Given the description of an element on the screen output the (x, y) to click on. 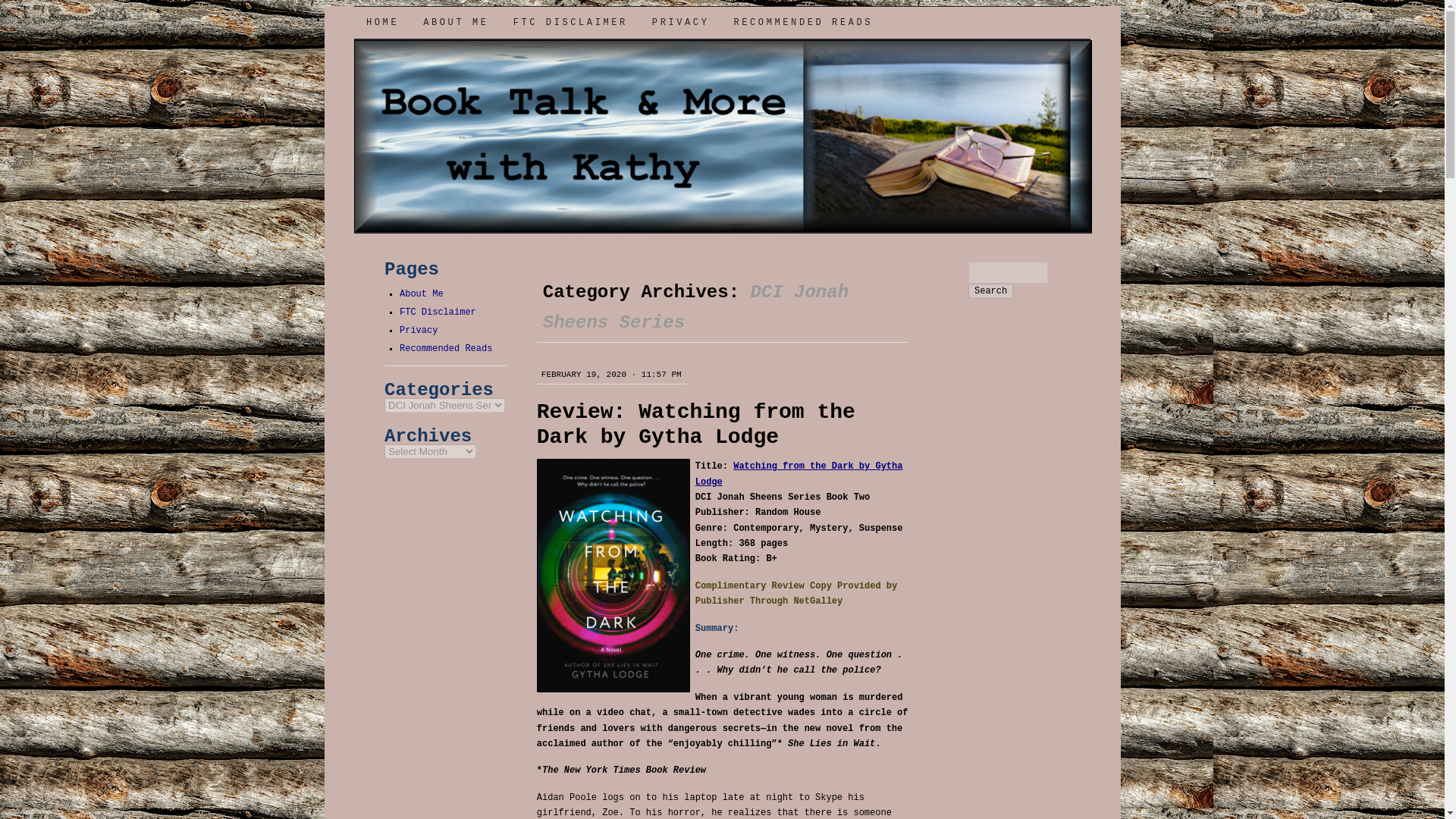
PRIVACY (681, 22)
Search (990, 290)
ABOUT ME (455, 22)
Review: Watching from the Dark by Gytha Lodge (696, 424)
Watching from the Dark by Gytha Lodge (798, 473)
HOME (381, 22)
FTC DISCLAIMER (570, 22)
RECOMMENDED READS (802, 22)
